Given the description of an element on the screen output the (x, y) to click on. 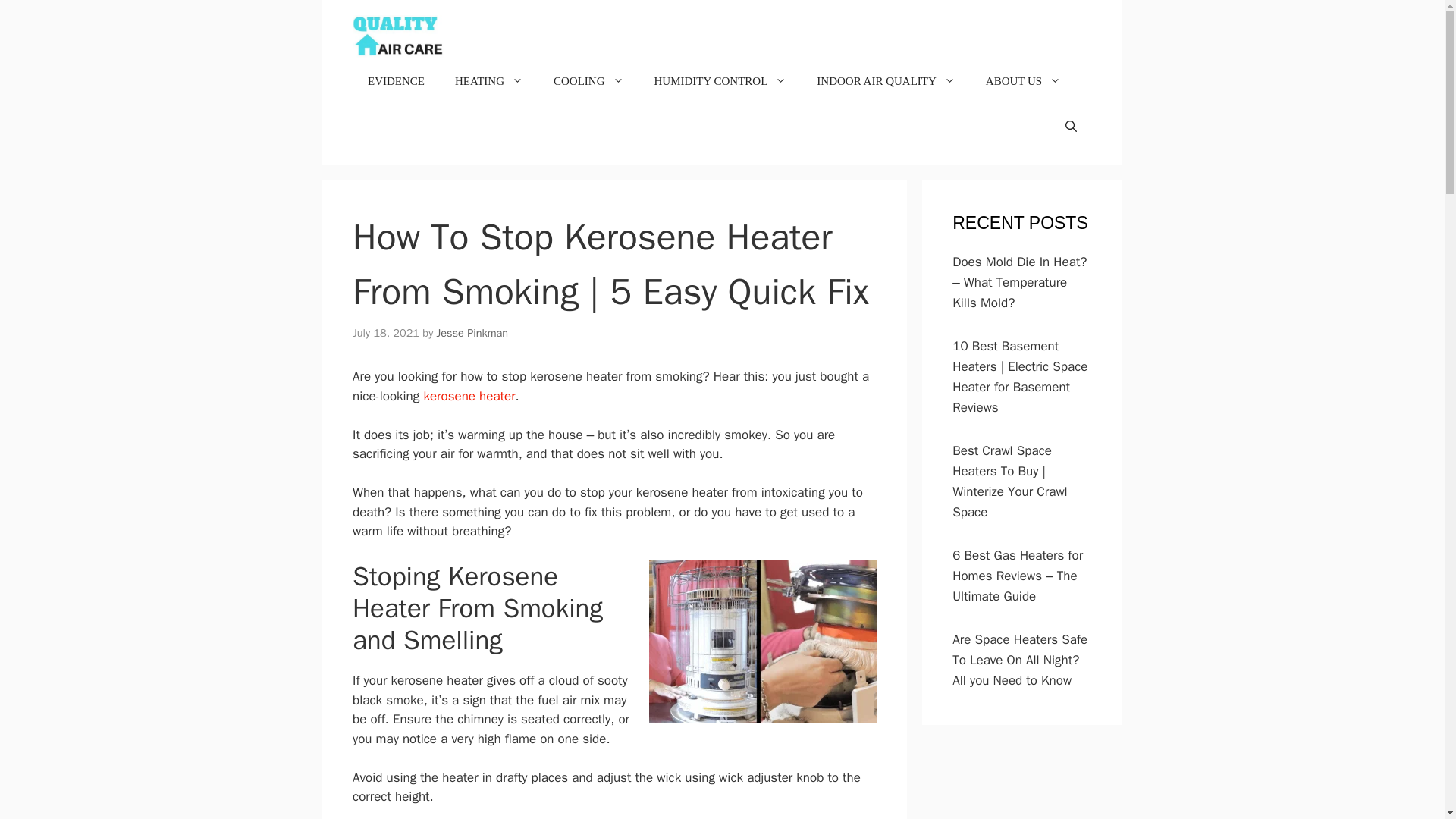
Quality Home Air Care (398, 36)
EVIDENCE (395, 81)
HUMIDITY CONTROL (720, 81)
View all posts by Jesse Pinkman (472, 332)
ABOUT US (1023, 81)
Quality Home Air Care (398, 35)
COOLING (588, 81)
INDOOR AIR QUALITY (886, 81)
HEATING (488, 81)
